Given the description of an element on the screen output the (x, y) to click on. 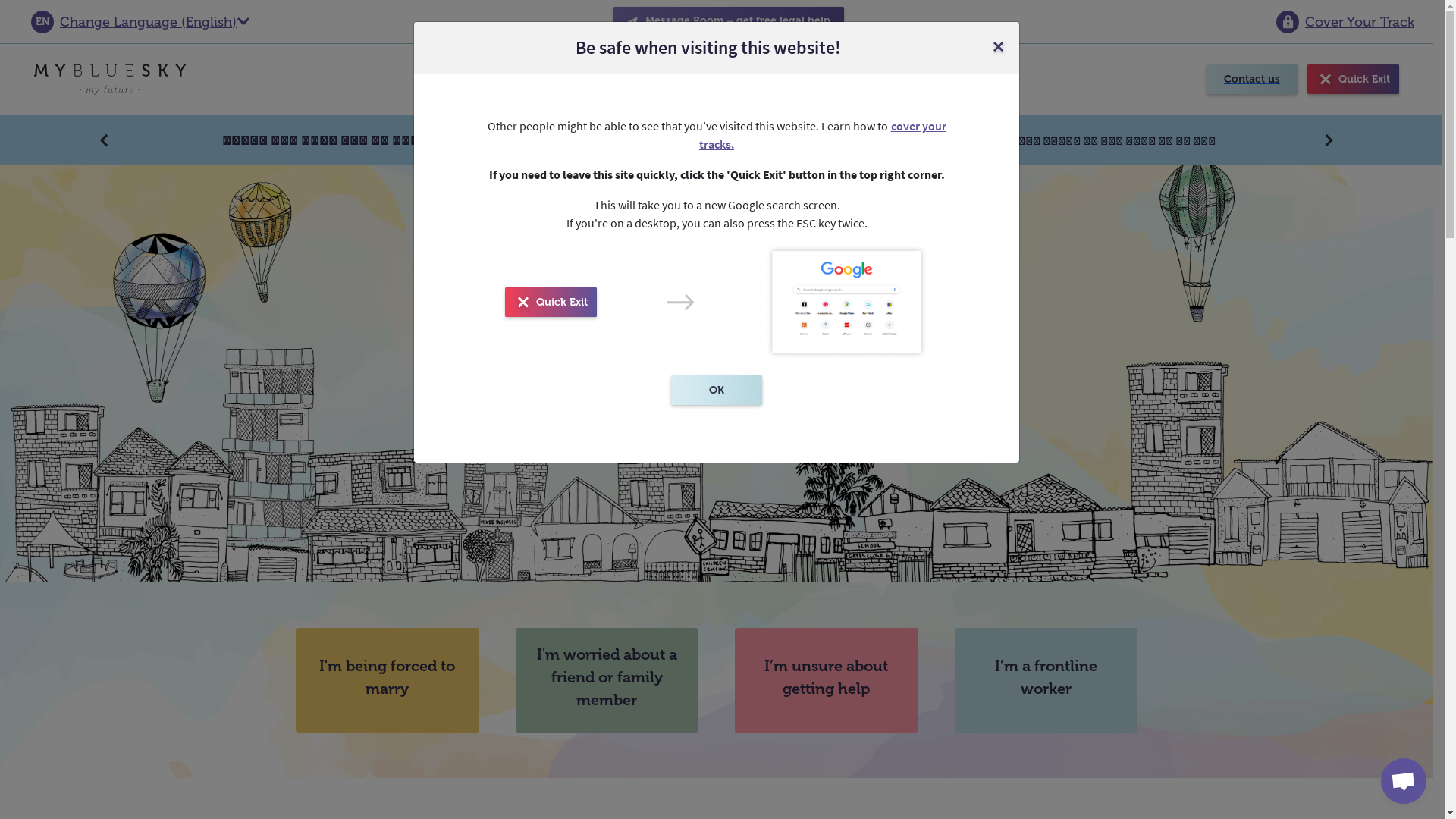
Quick Exit Element type: text (550, 301)
About forced marriage Element type: text (739, 78)
Get help Element type: text (470, 78)
cover your tracks. Element type: text (822, 134)
Contact us Element type: text (1251, 79)
Help someone else Element type: text (585, 78)
Next Element type: text (1329, 139)
Quick Exit Element type: text (1353, 79)
Click here for more ways to get urgent help. Element type: text (864, 139)
About My Blue Sky Element type: text (891, 78)
OK Element type: text (716, 389)
Triple Zero (000) Element type: text (615, 139)
EN
Change Language (English) Element type: text (140, 21)
Cover Your Track Element type: text (1345, 21)
